Given the description of an element on the screen output the (x, y) to click on. 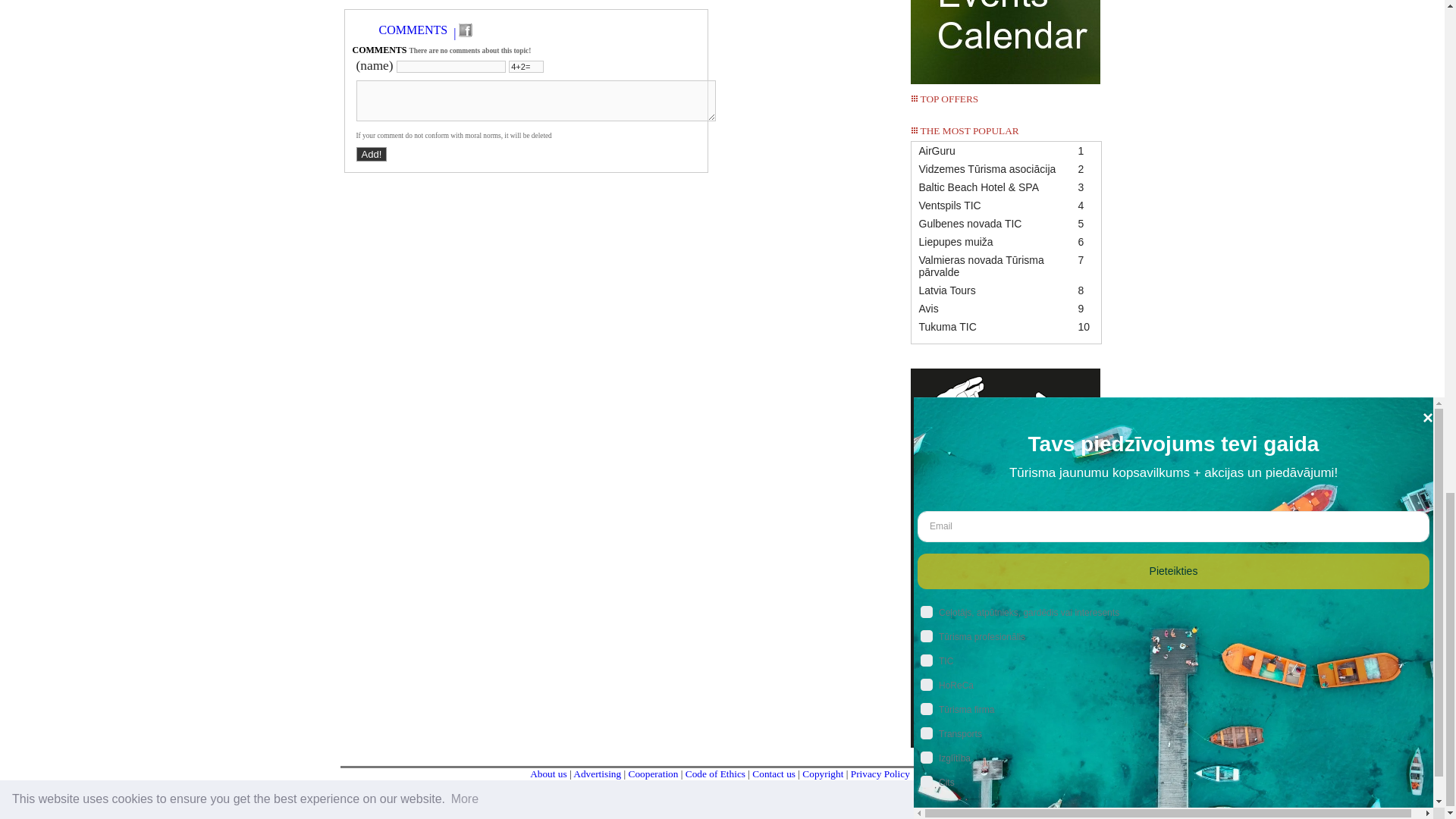
COMMENTS (413, 29)
AirGuru (1005, 150)
Add! (371, 154)
Add! (371, 154)
